Given the description of an element on the screen output the (x, y) to click on. 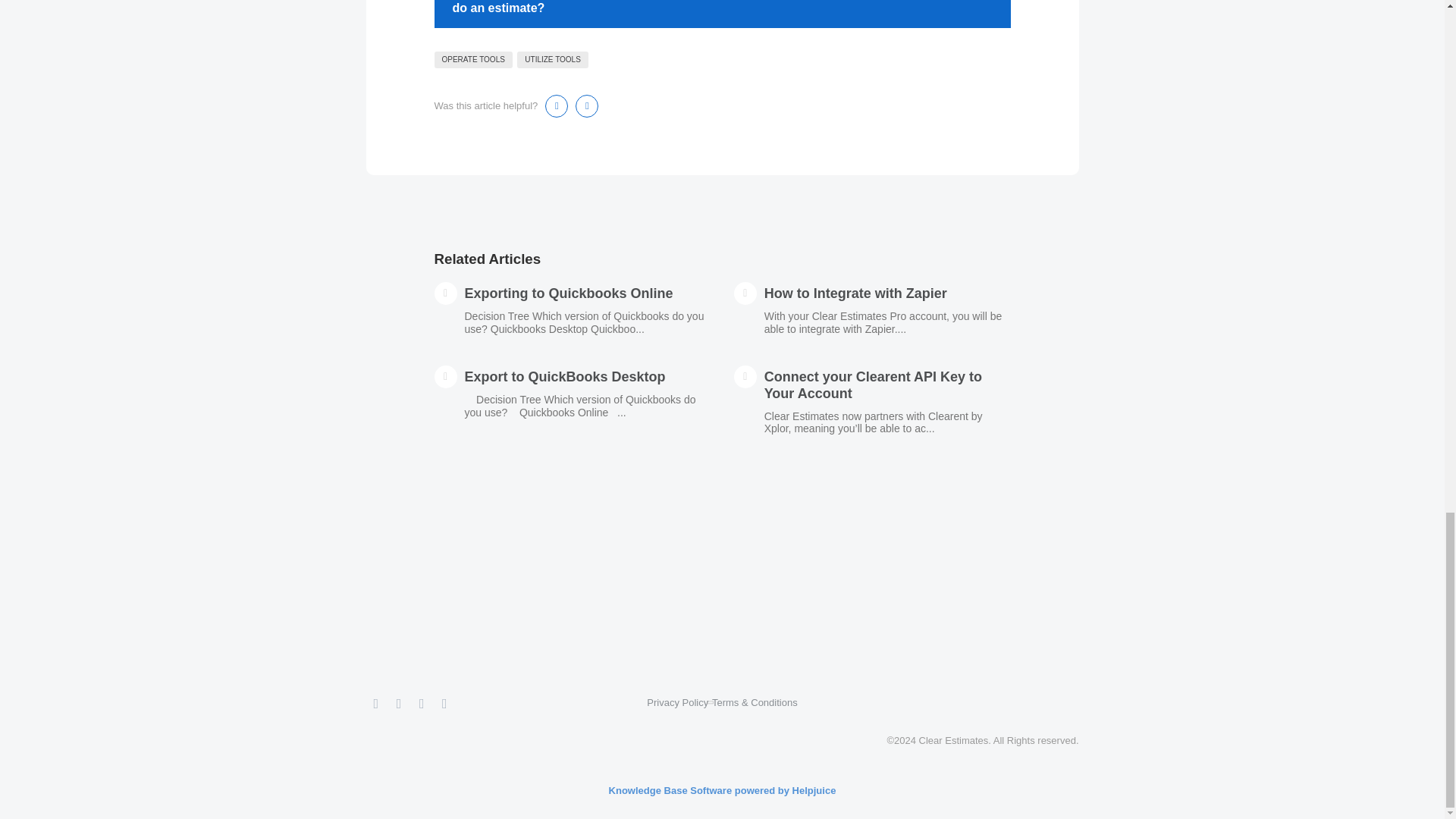
Exporting to Quickbooks Online (568, 293)
OPERATE TOOLS (472, 59)
How to Integrate with Zapier (855, 293)
Connect your Clearent API Key to Your Account (872, 385)
Privacy Policy (676, 702)
UTILIZE TOOLS (552, 59)
Export to QuickBooks Desktop (564, 376)
